Given the description of an element on the screen output the (x, y) to click on. 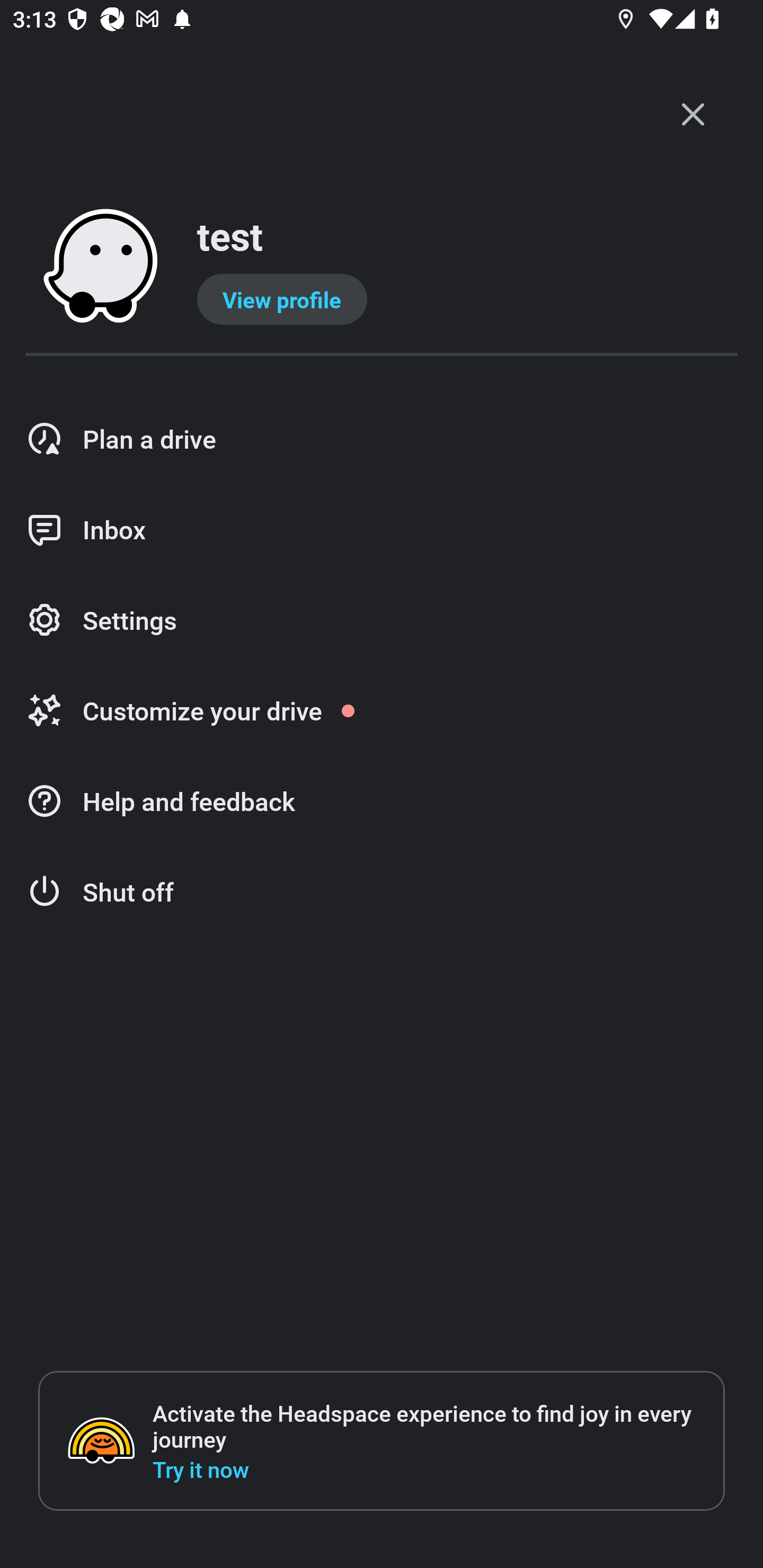
test View profile (381, 266)
View profile (281, 299)
ACTION_CELL_ICON Plan a drive ACTION_CELL_TEXT (381, 438)
ACTION_CELL_ICON Inbox ACTION_CELL_TEXT (381, 529)
ACTION_CELL_ICON Settings ACTION_CELL_TEXT (381, 620)
ACTION_CELL_ICON Shut off ACTION_CELL_TEXT (381, 891)
